Given the description of an element on the screen output the (x, y) to click on. 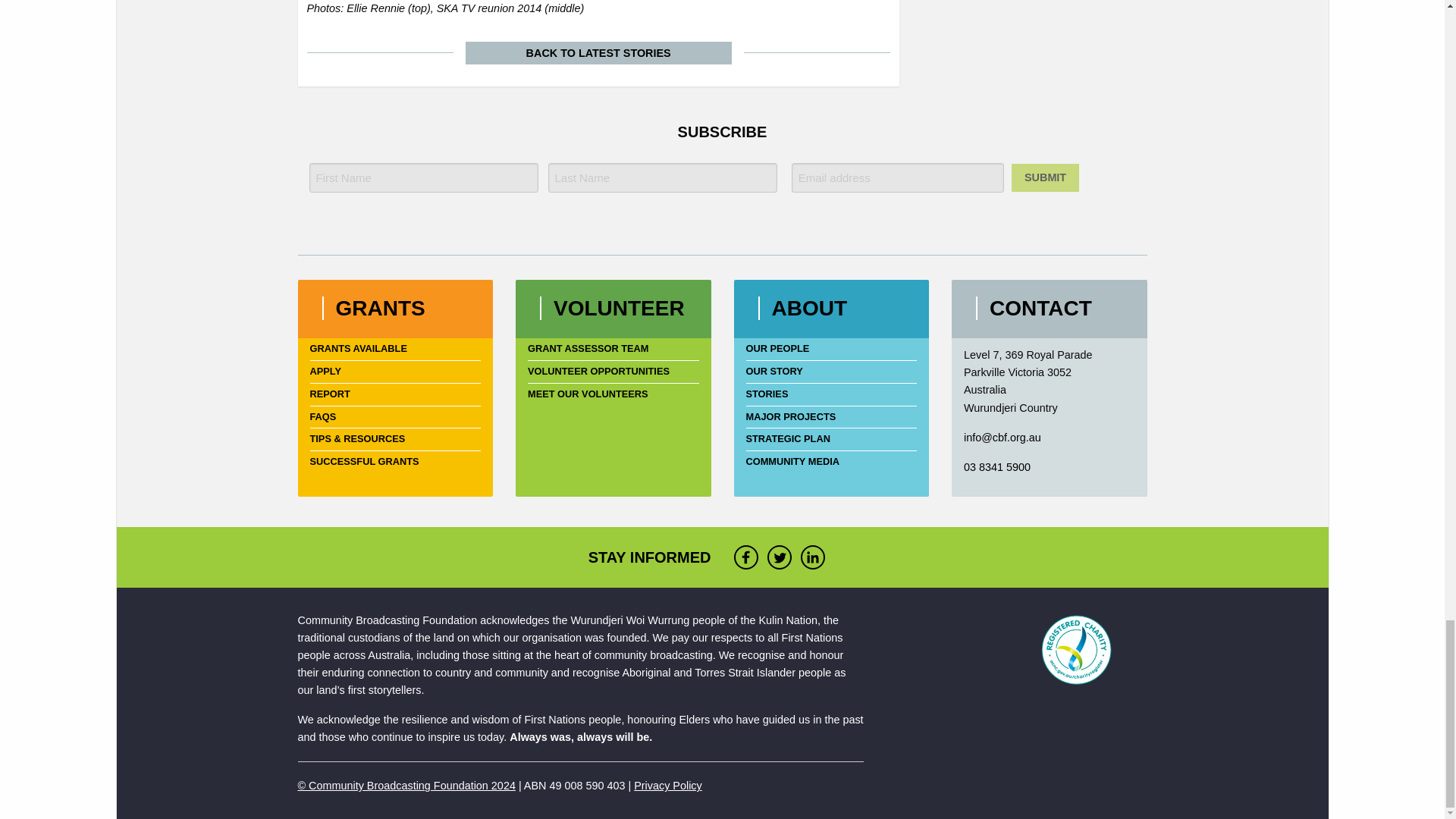
Follow on Facebook (750, 557)
GRANTS (379, 308)
Follow on Twitter (783, 557)
GRANT ASSESSOR TEAM (612, 349)
VOLUNTEER OPPORTUNITIES (612, 372)
Submit (1044, 177)
FAQS (394, 417)
BACK TO LATEST STORIES (598, 52)
GRANTS AVAILABLE (394, 349)
Submit (1044, 177)
REPORT (394, 394)
MEET OUR VOLUNTEERS (612, 394)
Follow on LinkedIn (817, 557)
APPLY (394, 372)
SUCCESSFUL GRANTS (394, 462)
